Given the description of an element on the screen output the (x, y) to click on. 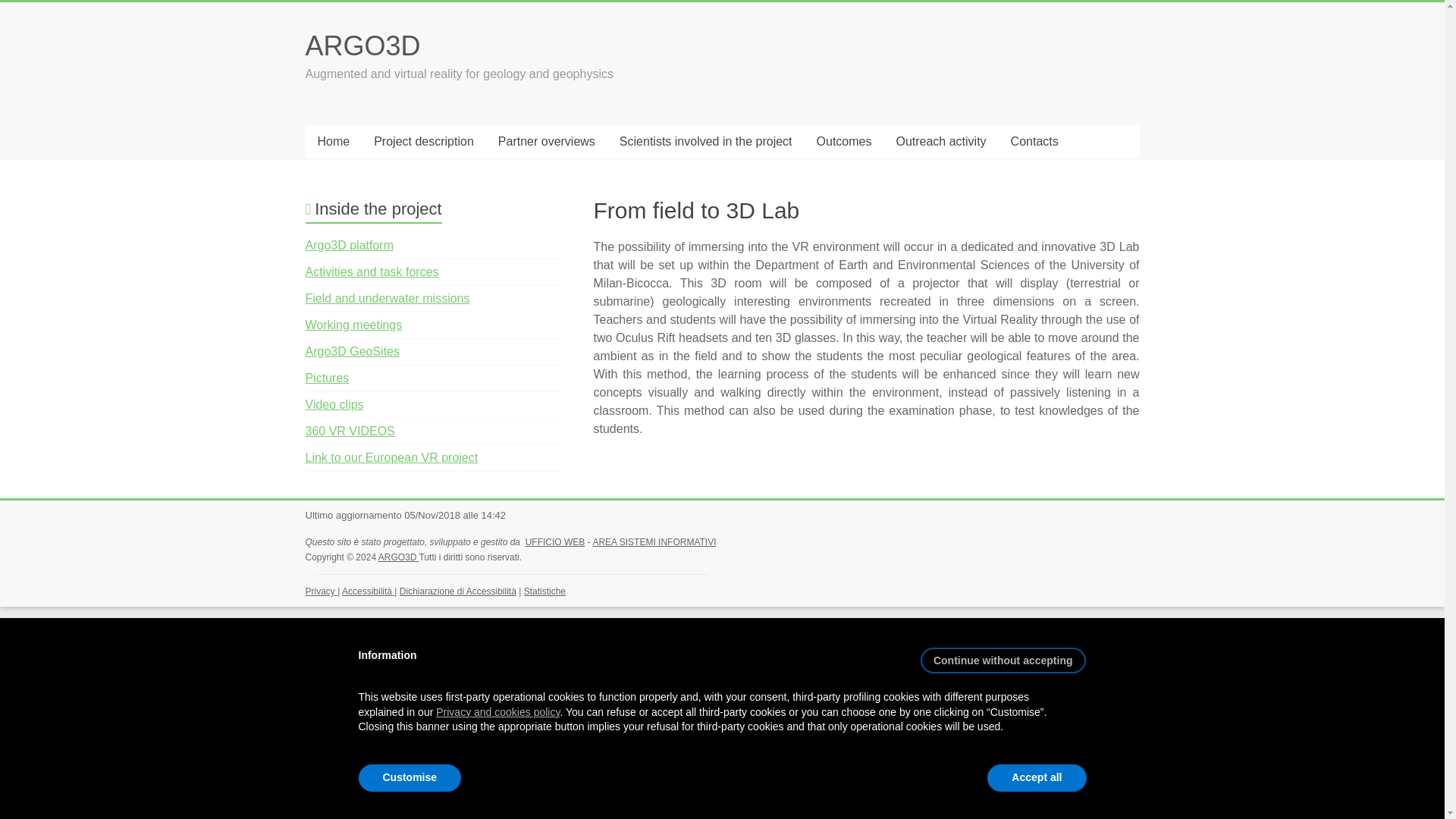
Privacy (320, 591)
Project description (423, 141)
Outreach activity (940, 141)
Pictures (326, 377)
Activities and task forces (371, 271)
Statistiche (545, 591)
360 VR VIDEOS (349, 431)
ARGO3D (398, 557)
ARGO3D (362, 45)
Home (332, 141)
